Given the description of an element on the screen output the (x, y) to click on. 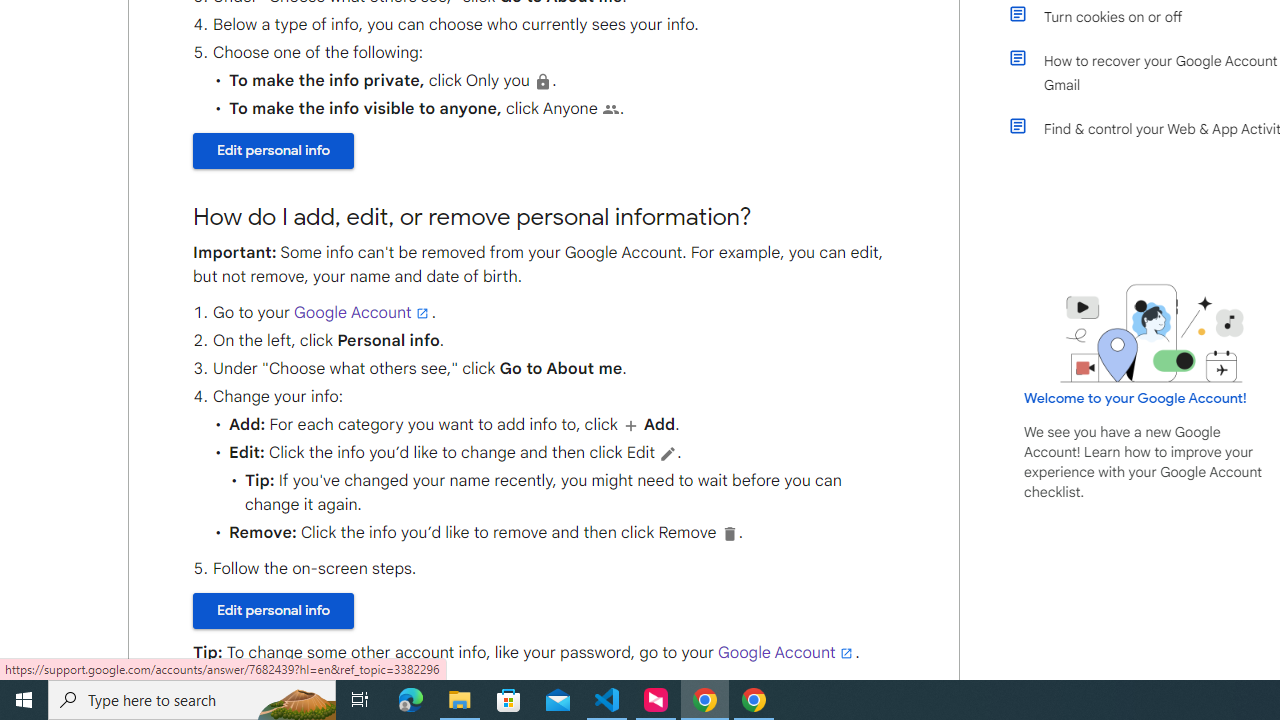
Welcome to your Google Account! (1135, 397)
Google Account (786, 652)
Edit (668, 453)
Private, tap to edit who can see this info (542, 81)
Learning Center home page image (1152, 333)
Delete (728, 533)
Add user (631, 425)
Edit personal info (273, 611)
People (610, 109)
